Given the description of an element on the screen output the (x, y) to click on. 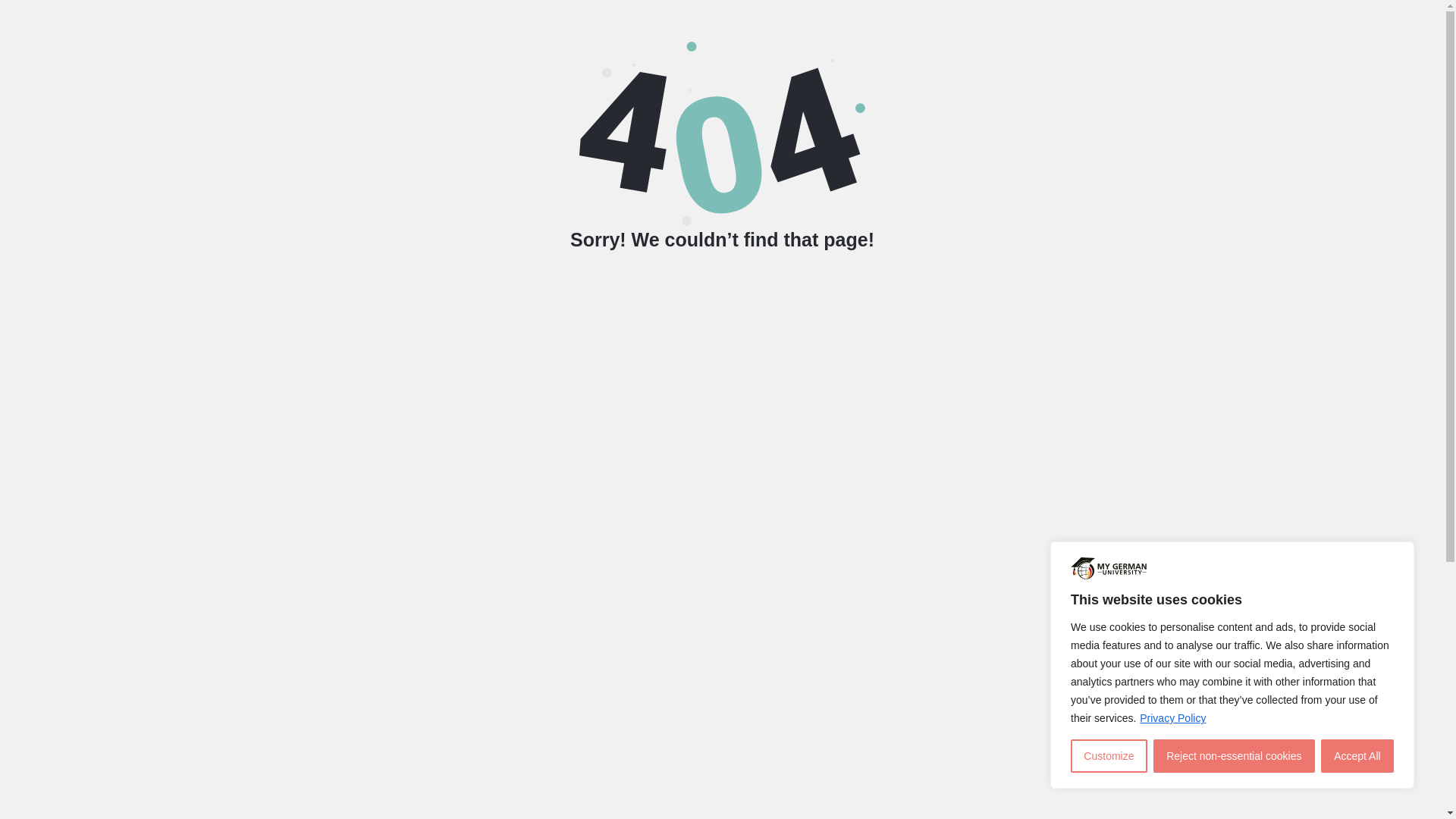
Privacy Policy (1172, 717)
Customize (1108, 756)
Accept All (1356, 756)
Reject non-essential cookies (1233, 756)
